Given the description of an element on the screen output the (x, y) to click on. 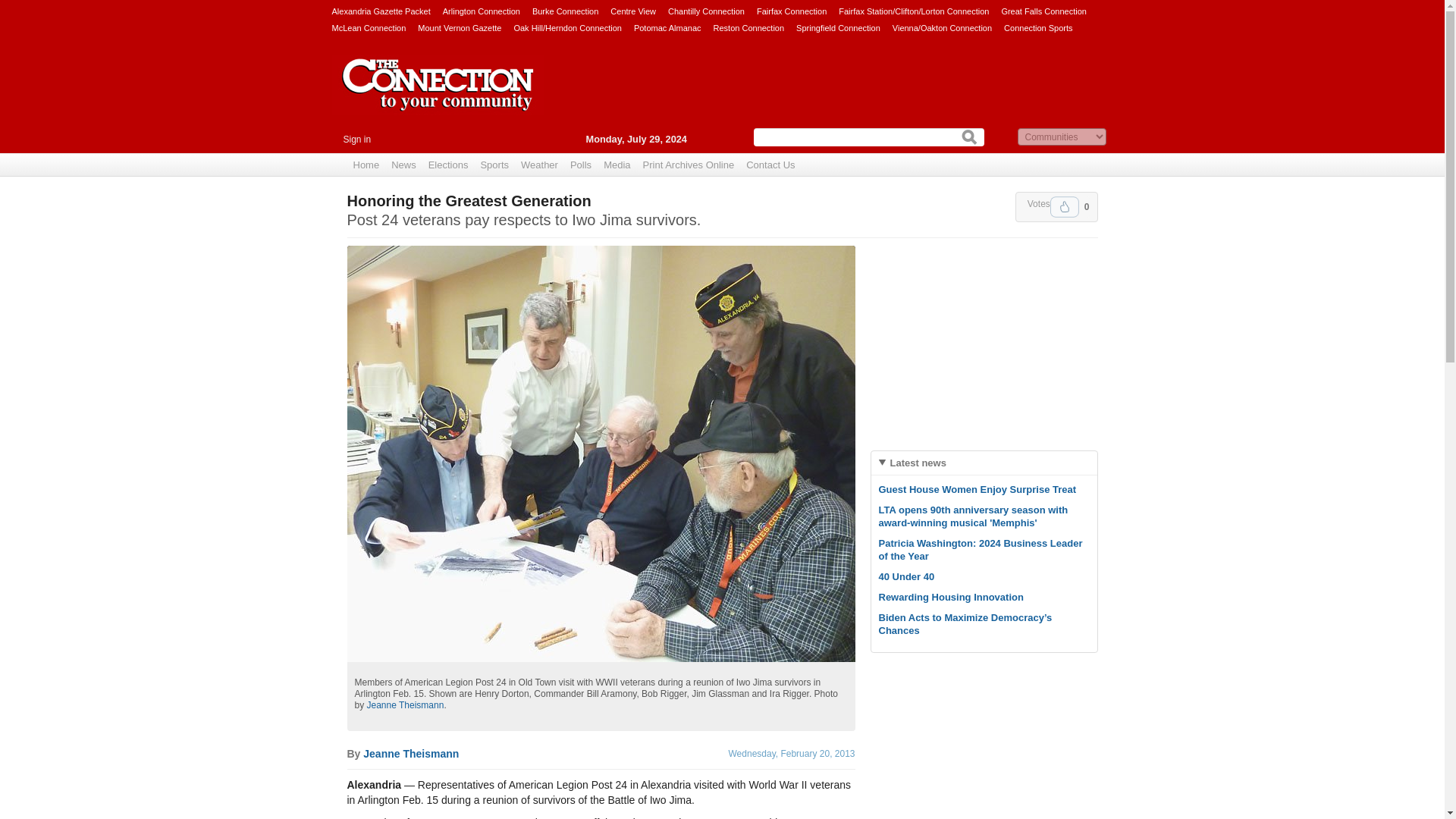
Great Falls Connection (1043, 11)
Sign in (356, 139)
Centre View (633, 11)
Arlington Connection (480, 11)
Reston Connection (748, 27)
Springfield Connection (838, 27)
Chantilly Connection (706, 11)
Mount Vernon Gazette (458, 27)
Elections (448, 164)
Home (366, 164)
News (403, 164)
Alexandria Gazette Packet (380, 11)
Potomac Almanac (667, 27)
The Connection (437, 96)
Burke Connection (565, 11)
